Given the description of an element on the screen output the (x, y) to click on. 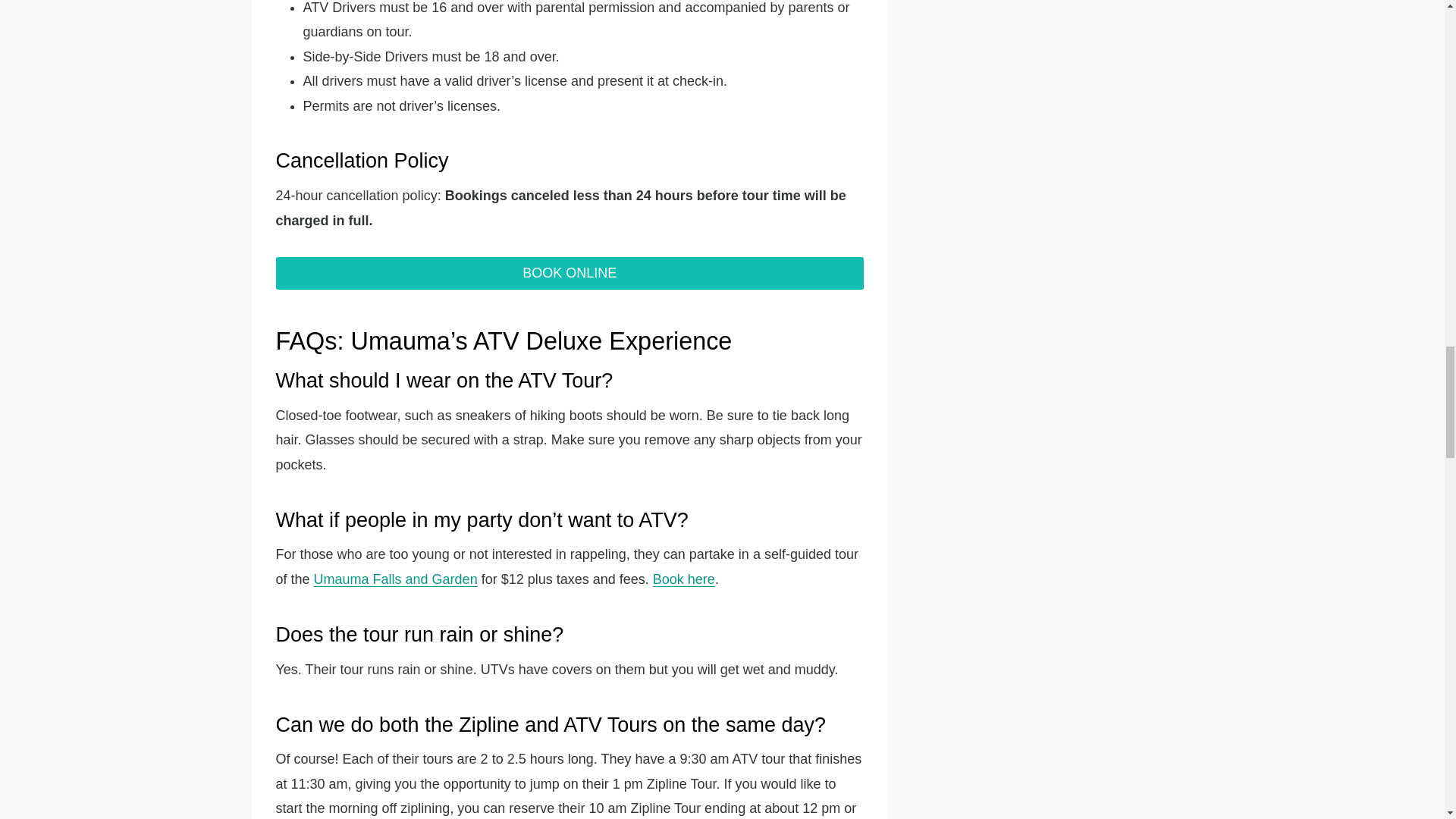
BOOK ONLINE (569, 273)
Book here (683, 579)
Umauma Falls and Garden (395, 579)
